Given the description of an element on the screen output the (x, y) to click on. 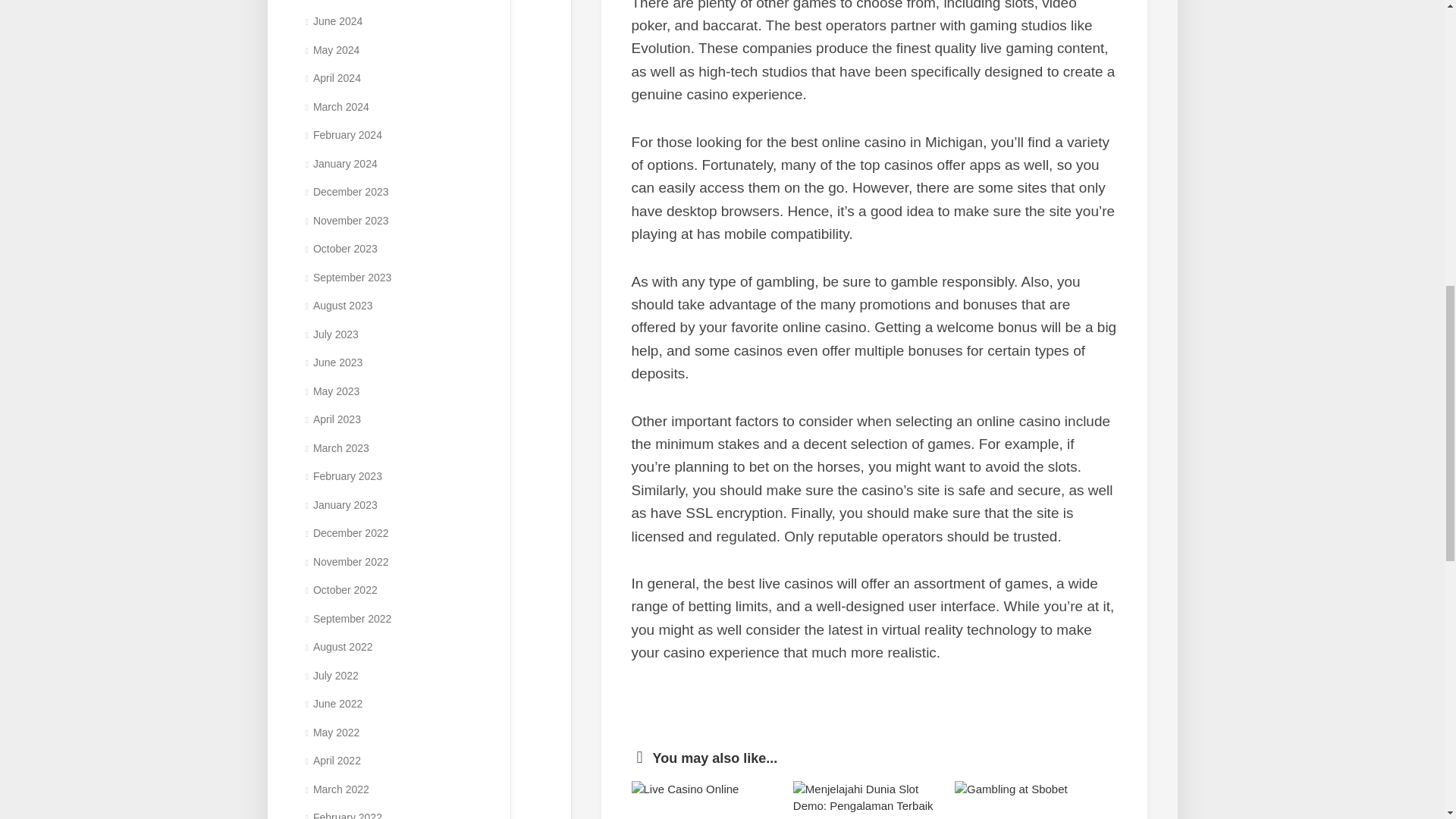
May 2023 (331, 390)
November 2023 (346, 220)
October 2022 (340, 589)
July 2022 (331, 675)
March 2024 (336, 106)
April 2023 (331, 419)
June 2022 (333, 703)
January 2024 (340, 163)
August 2023 (338, 305)
May 2024 (331, 50)
